Given the description of an element on the screen output the (x, y) to click on. 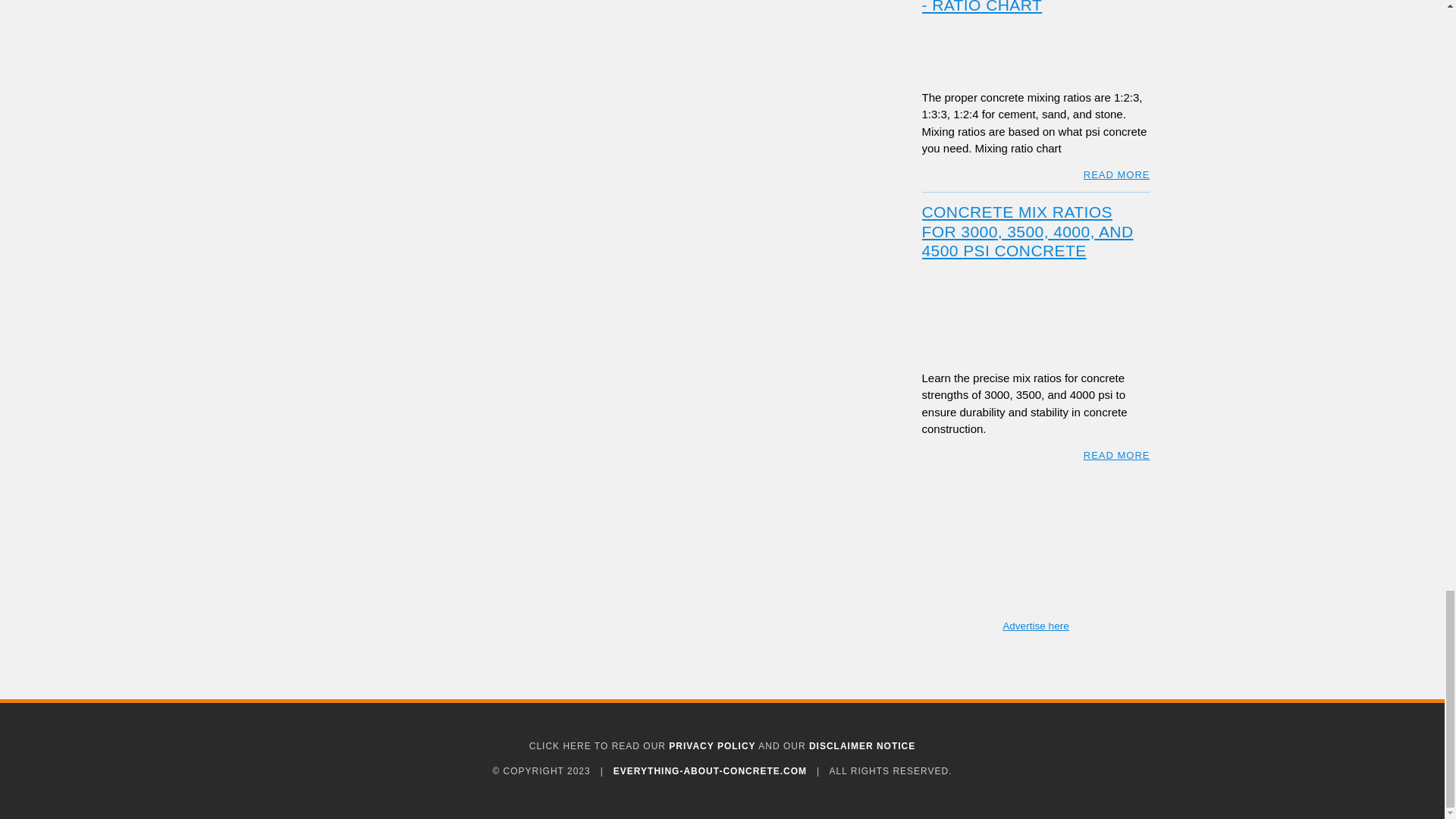
Concrete Underground Training (1035, 549)
